Given the description of an element on the screen output the (x, y) to click on. 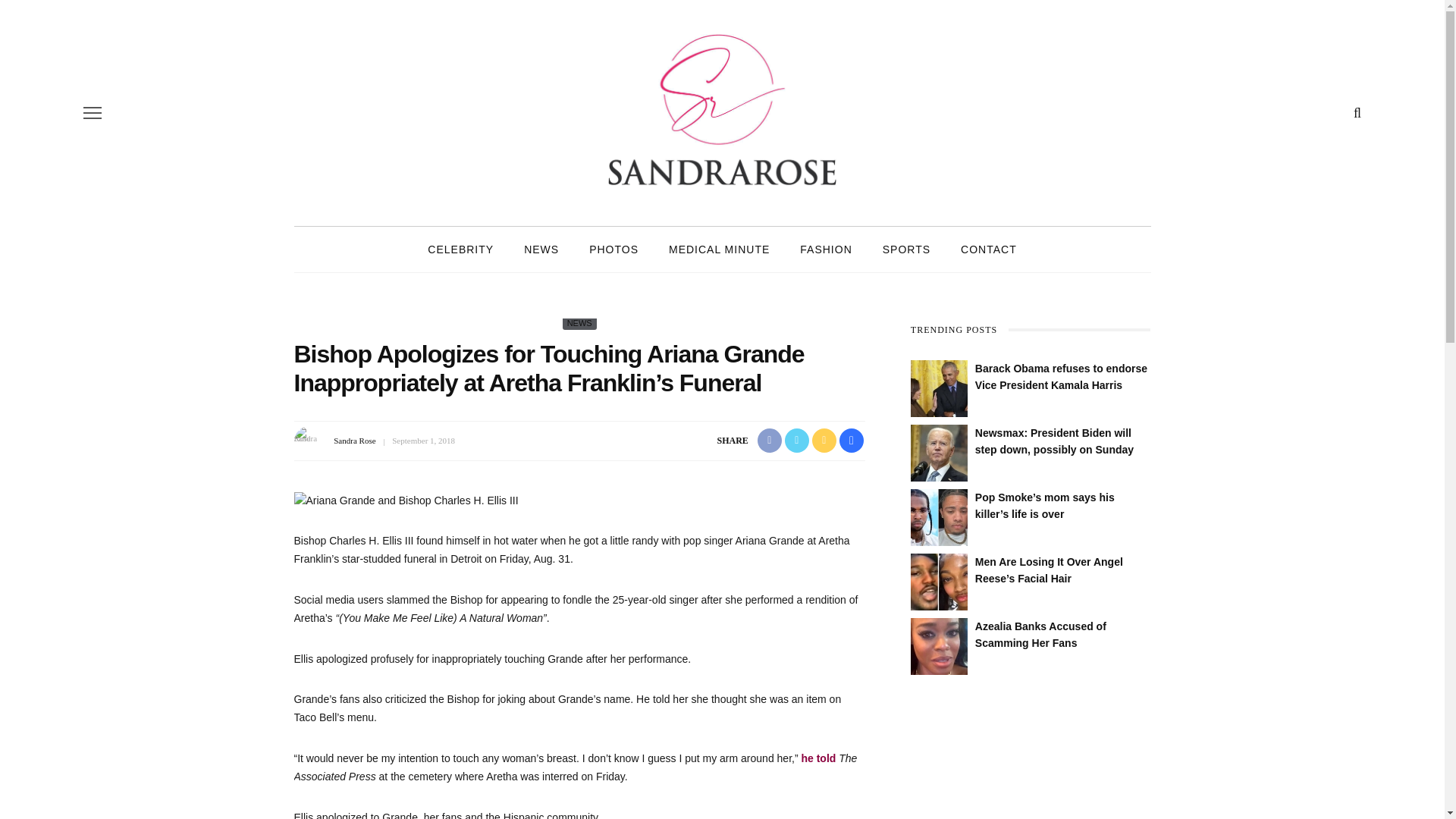
he told (817, 758)
CONTACT (988, 248)
CELEBRITY (460, 248)
MEDICAL MINUTE (718, 248)
Sandra Rose (354, 440)
NEWS (540, 248)
NEWS (579, 323)
FASHION (825, 248)
PHOTOS (613, 248)
off canvas button (91, 113)
Post by Sandra Rose (354, 440)
SPORTS (905, 248)
